Given the description of an element on the screen output the (x, y) to click on. 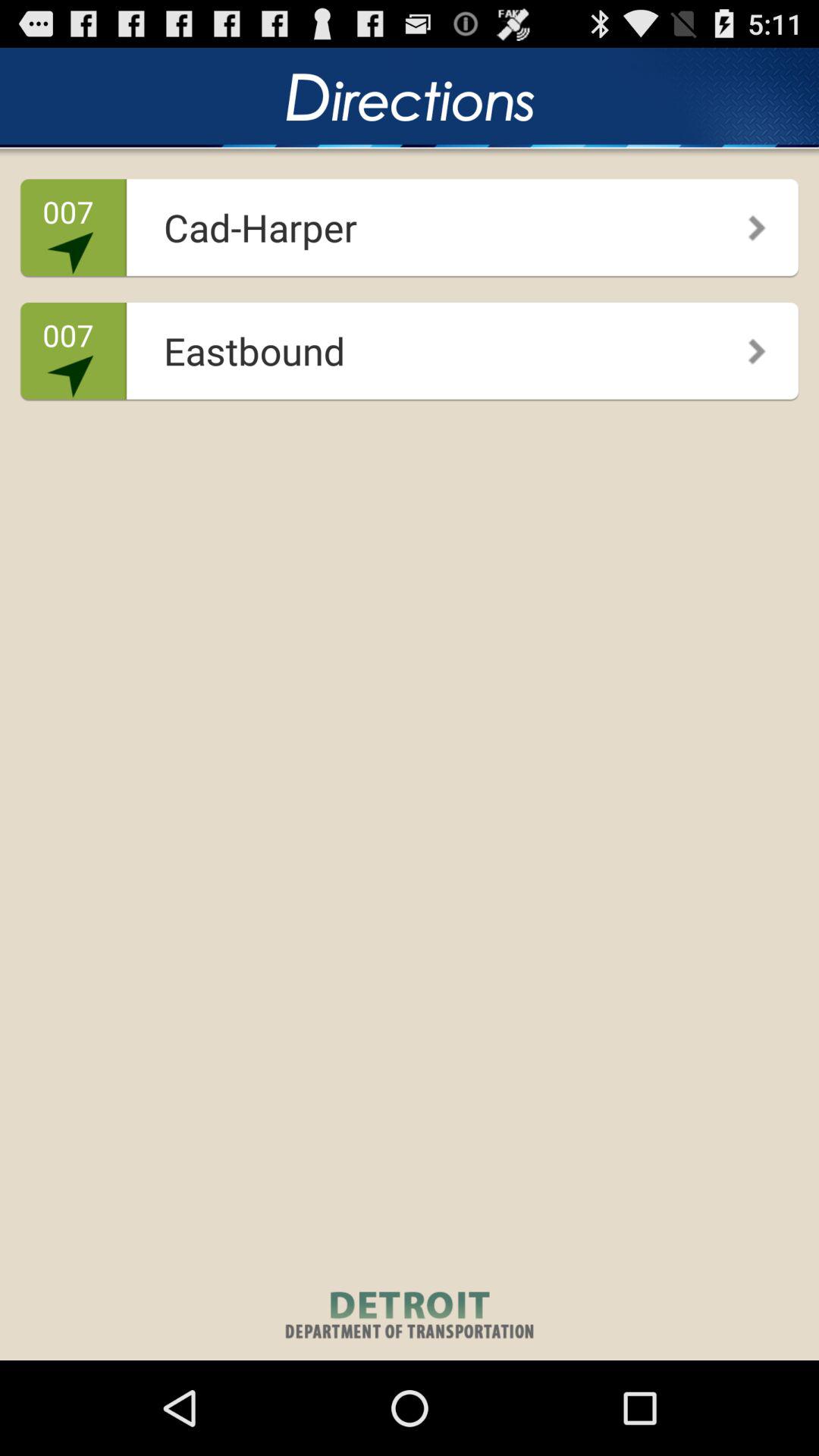
launch cad-harper icon (404, 222)
